Given the description of an element on the screen output the (x, y) to click on. 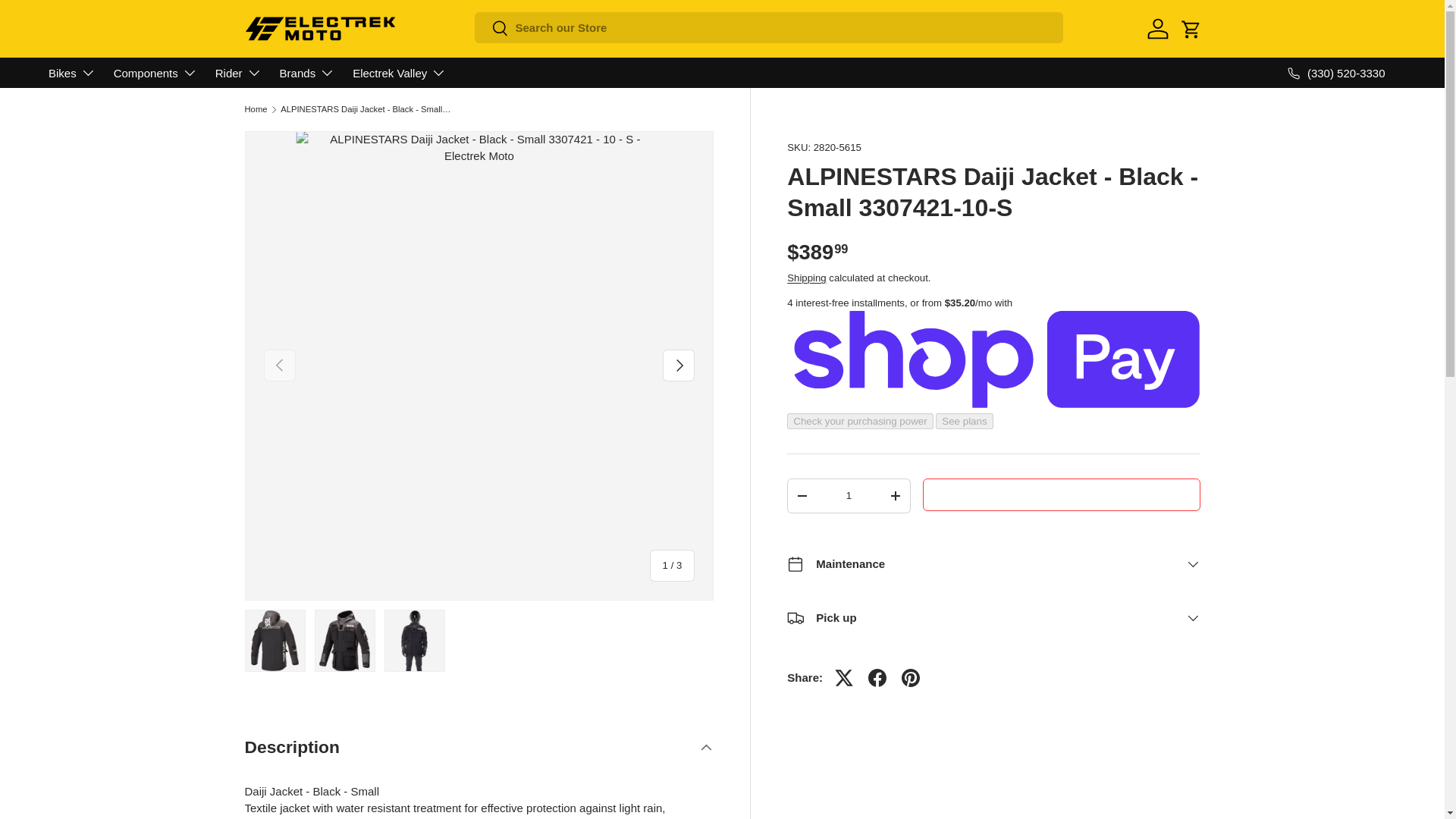
Skip to content (68, 21)
Log in (1156, 28)
Components (154, 72)
1 (848, 495)
Search (491, 27)
Bikes (72, 72)
Cart (1190, 29)
